Given the description of an element on the screen output the (x, y) to click on. 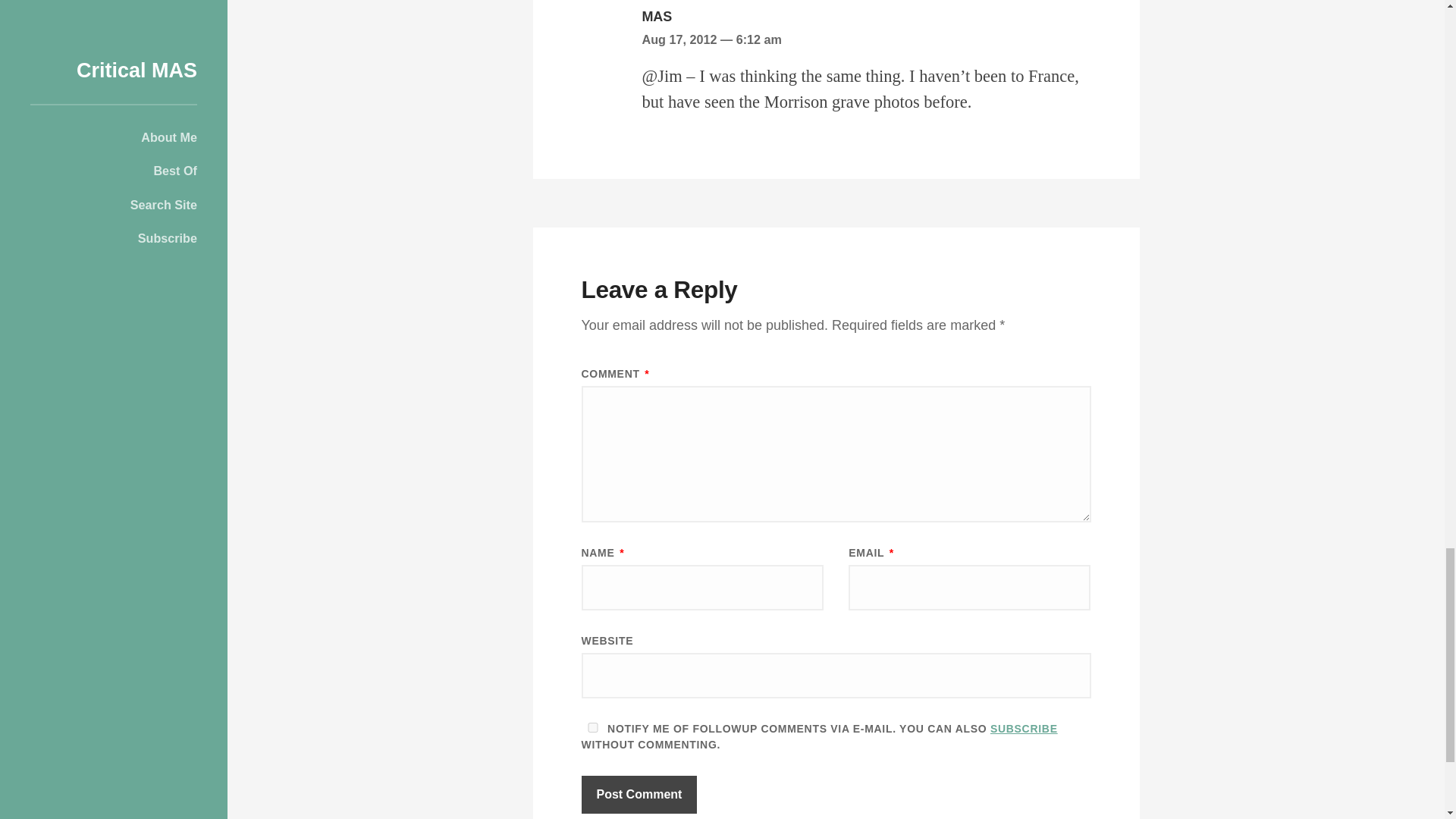
Post Comment (638, 794)
yes (592, 727)
Post Comment (638, 794)
SUBSCRIBE (1024, 728)
MAS (656, 16)
